Given the description of an element on the screen output the (x, y) to click on. 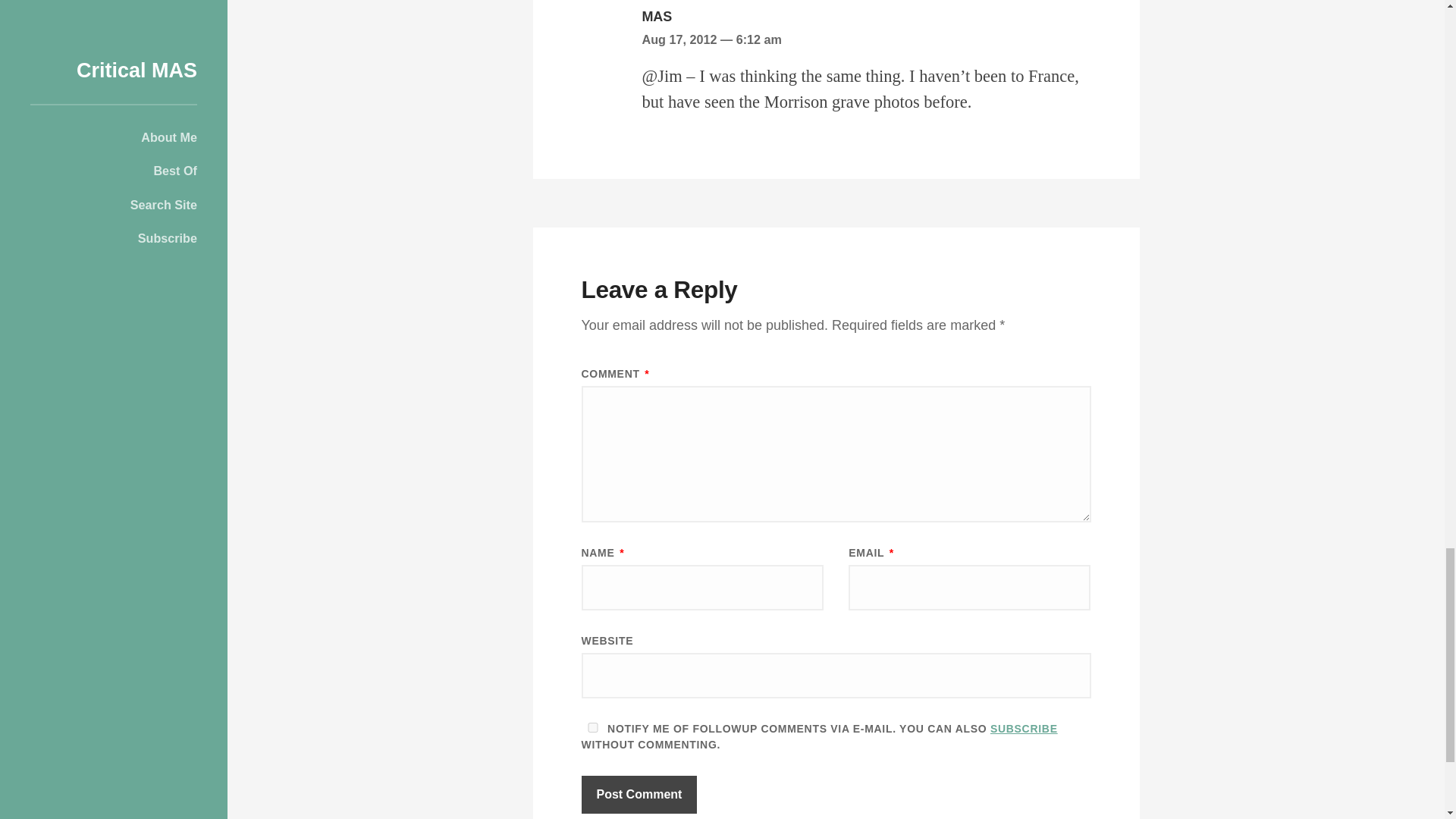
Post Comment (638, 794)
yes (592, 727)
Post Comment (638, 794)
SUBSCRIBE (1024, 728)
MAS (656, 16)
